Given the description of an element on the screen output the (x, y) to click on. 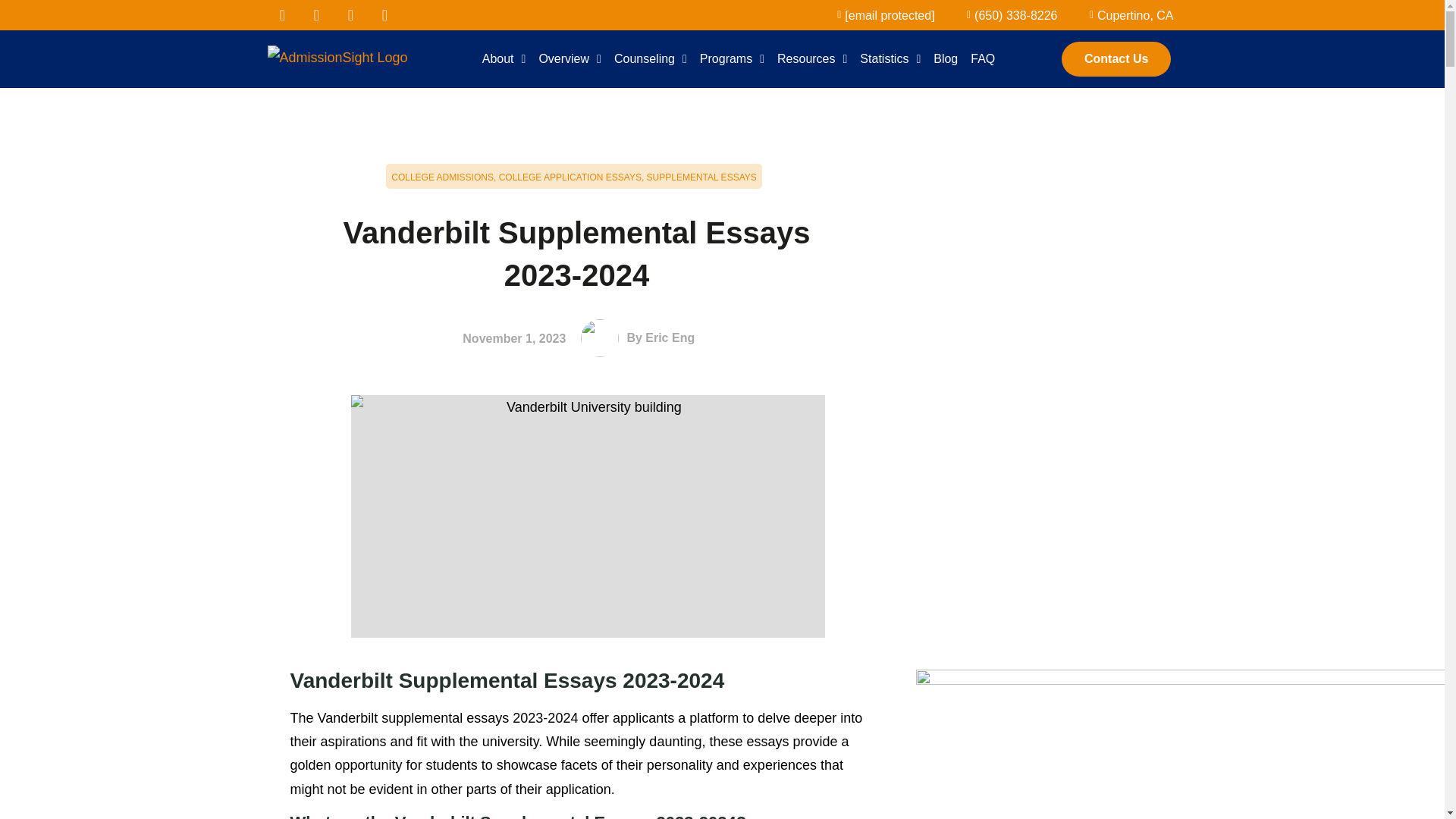
Counseling (650, 59)
Overview (569, 59)
About (504, 59)
Linkedin (349, 15)
Programs (731, 59)
Instagram (384, 15)
Twitter (316, 15)
Facebook (281, 15)
